Given the description of an element on the screen output the (x, y) to click on. 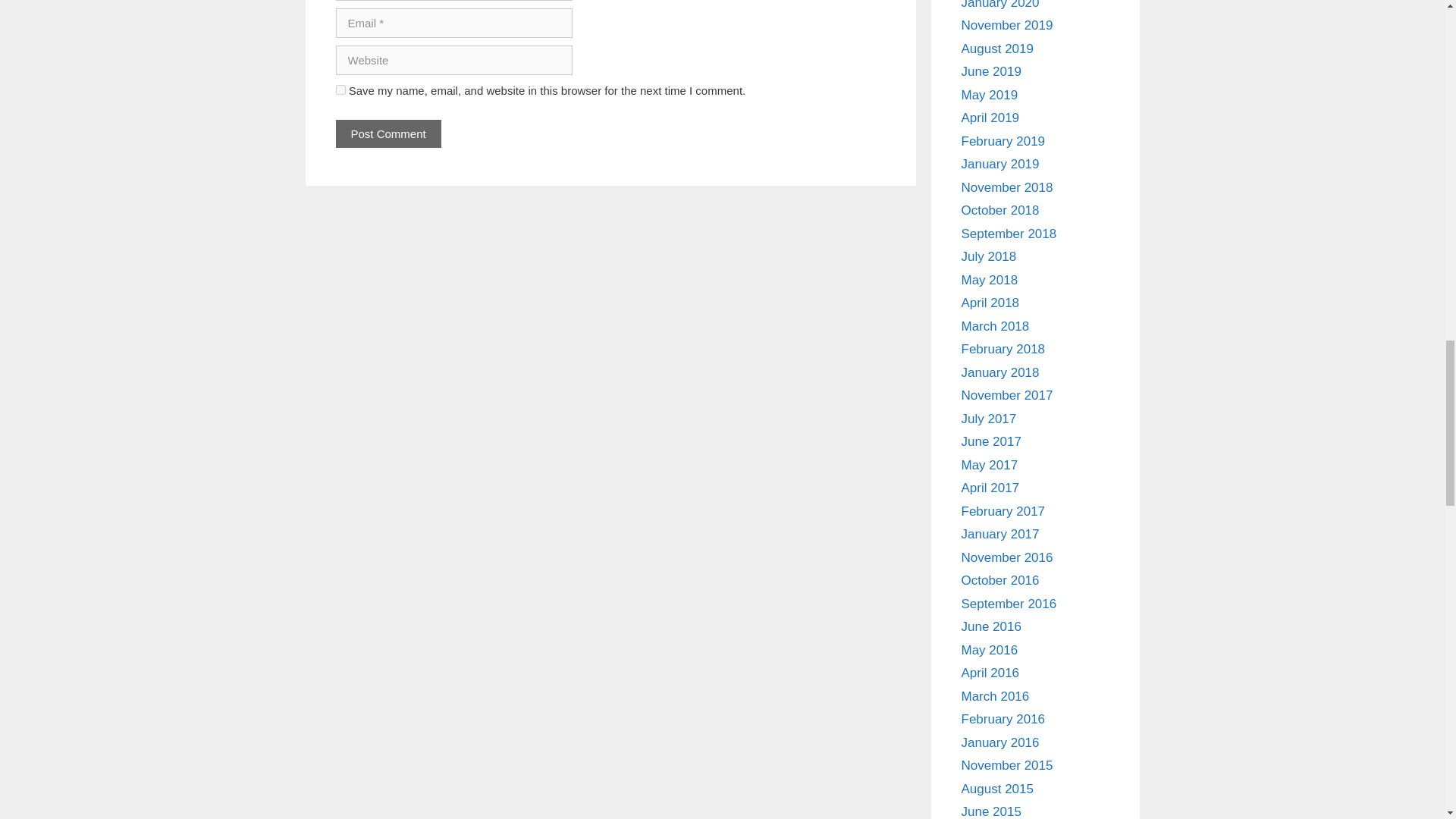
Post Comment (387, 133)
yes (339, 90)
Post Comment (387, 133)
